Given the description of an element on the screen output the (x, y) to click on. 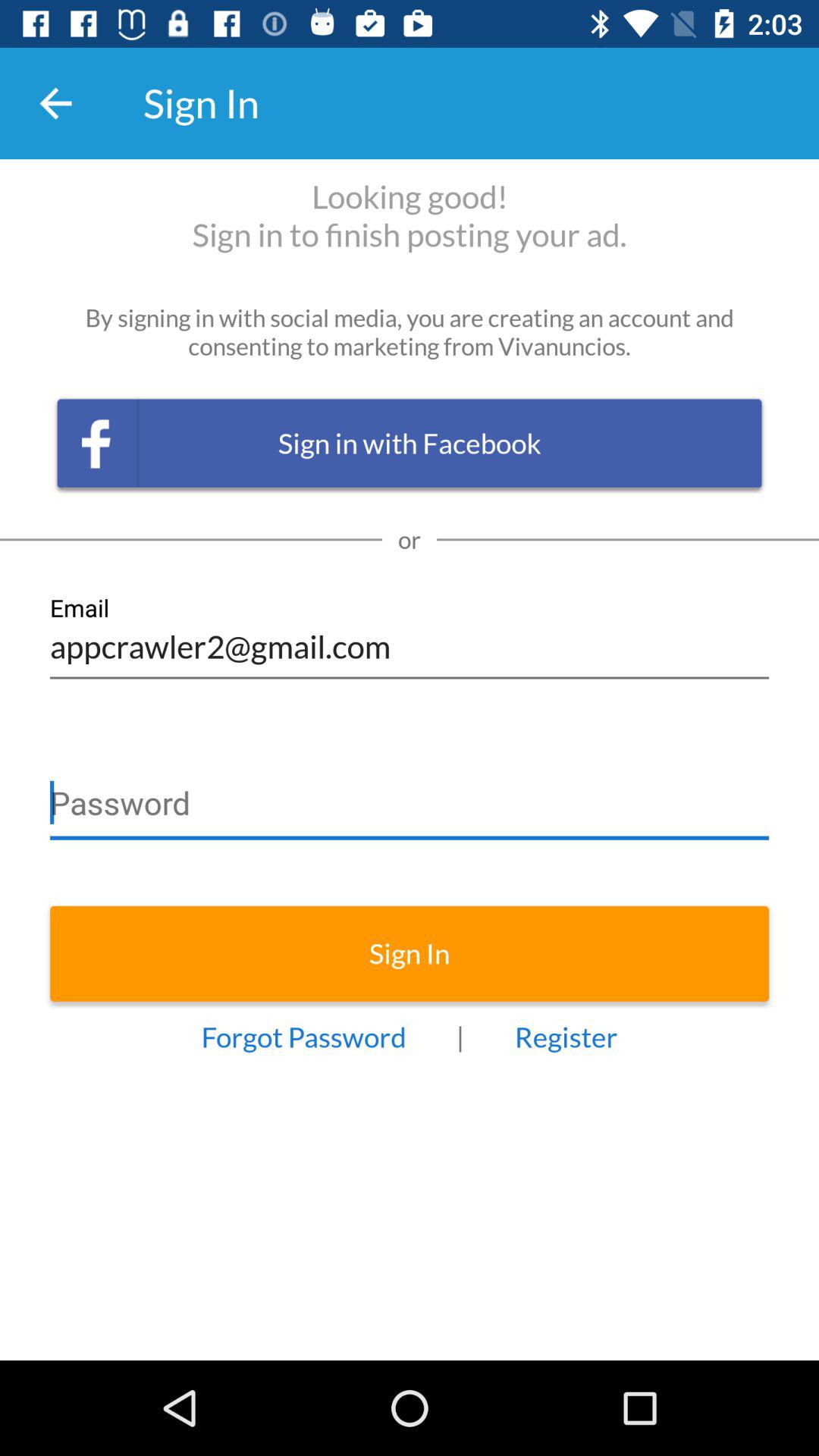
press item to the right of | (565, 1036)
